Given the description of an element on the screen output the (x, y) to click on. 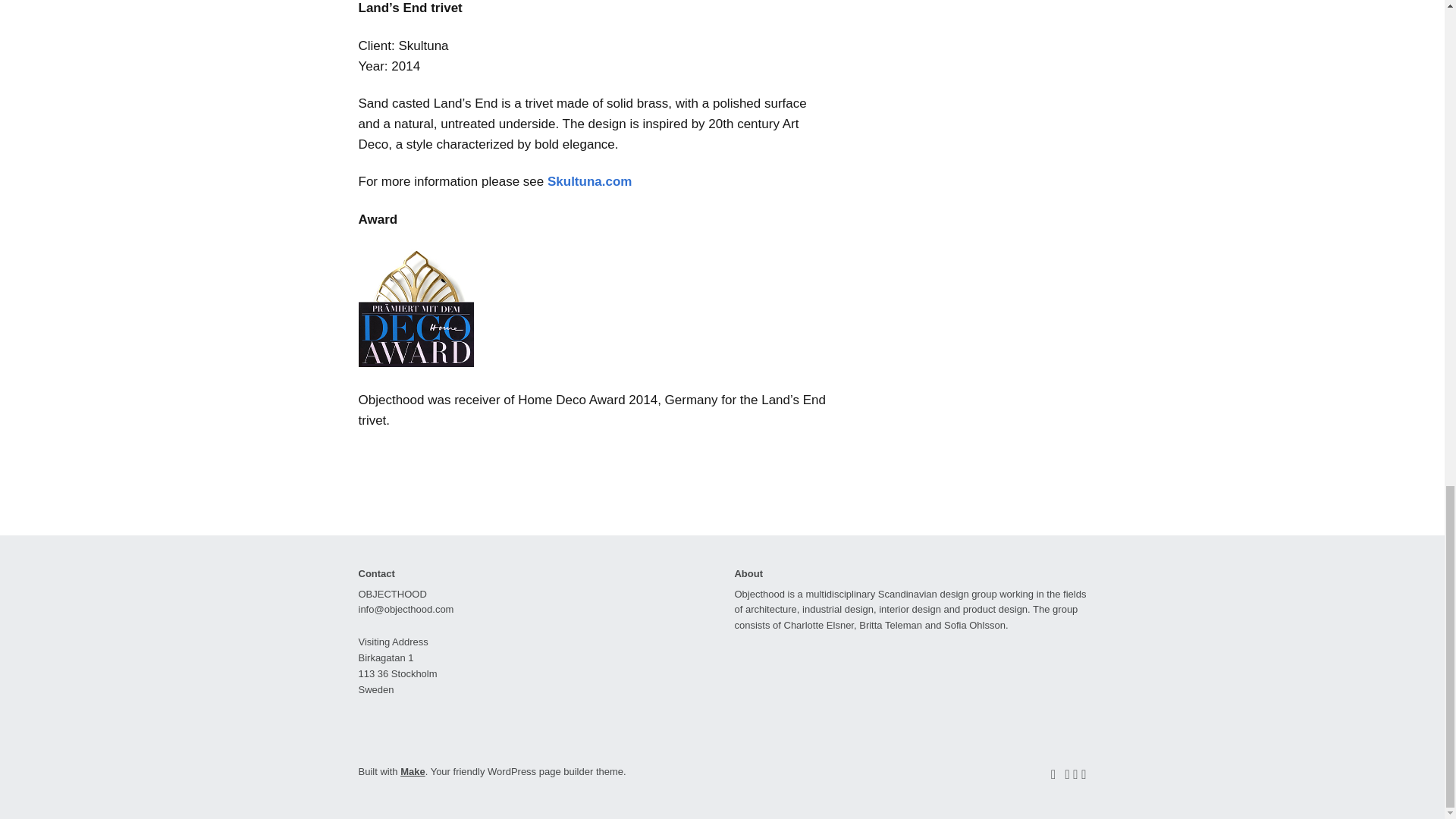
Make (412, 771)
Skultuna.com (589, 181)
